Given the description of an element on the screen output the (x, y) to click on. 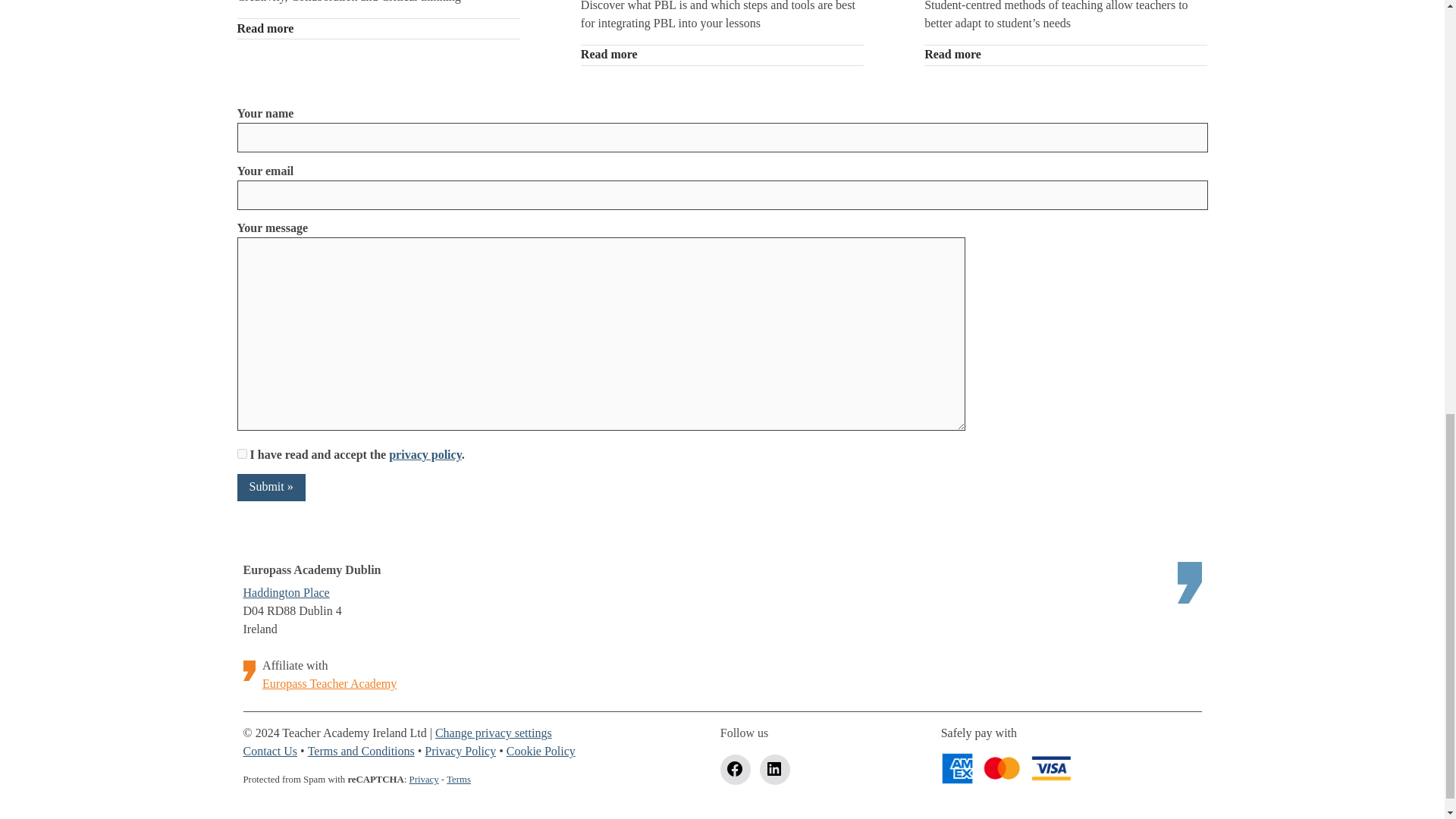
Privacy Policy (460, 752)
Facebook (735, 769)
Terms (458, 780)
Cookie Policy (540, 752)
1 (240, 453)
Privacy (424, 780)
Europass Teacher Academy (329, 684)
Linkedin (775, 769)
Contact Us (270, 752)
Change privacy settings (493, 734)
Haddington Place (286, 593)
Terms and Conditions (360, 752)
privacy policy (424, 455)
